Given the description of an element on the screen output the (x, y) to click on. 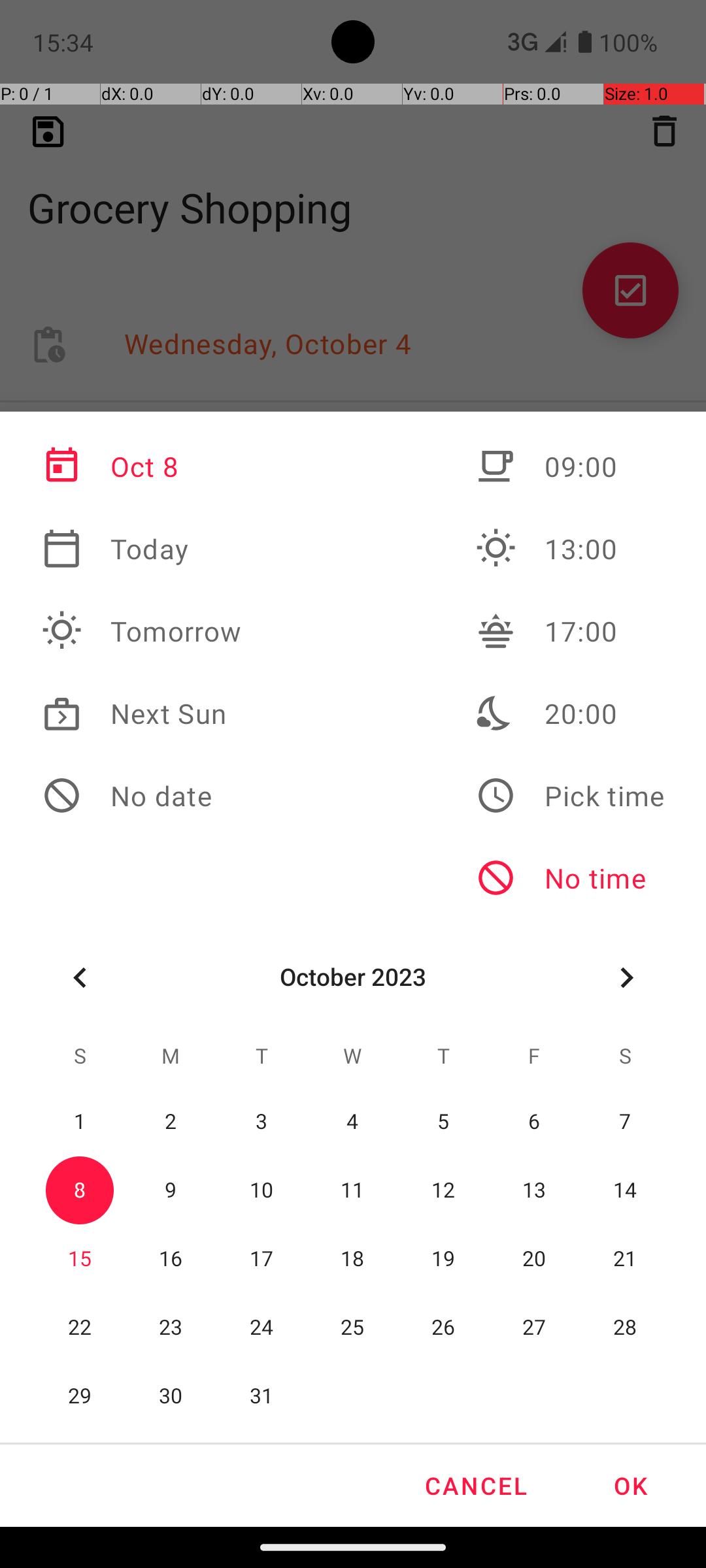
Oct 8 Element type: android.widget.CompoundButton (141, 466)
